Given the description of an element on the screen output the (x, y) to click on. 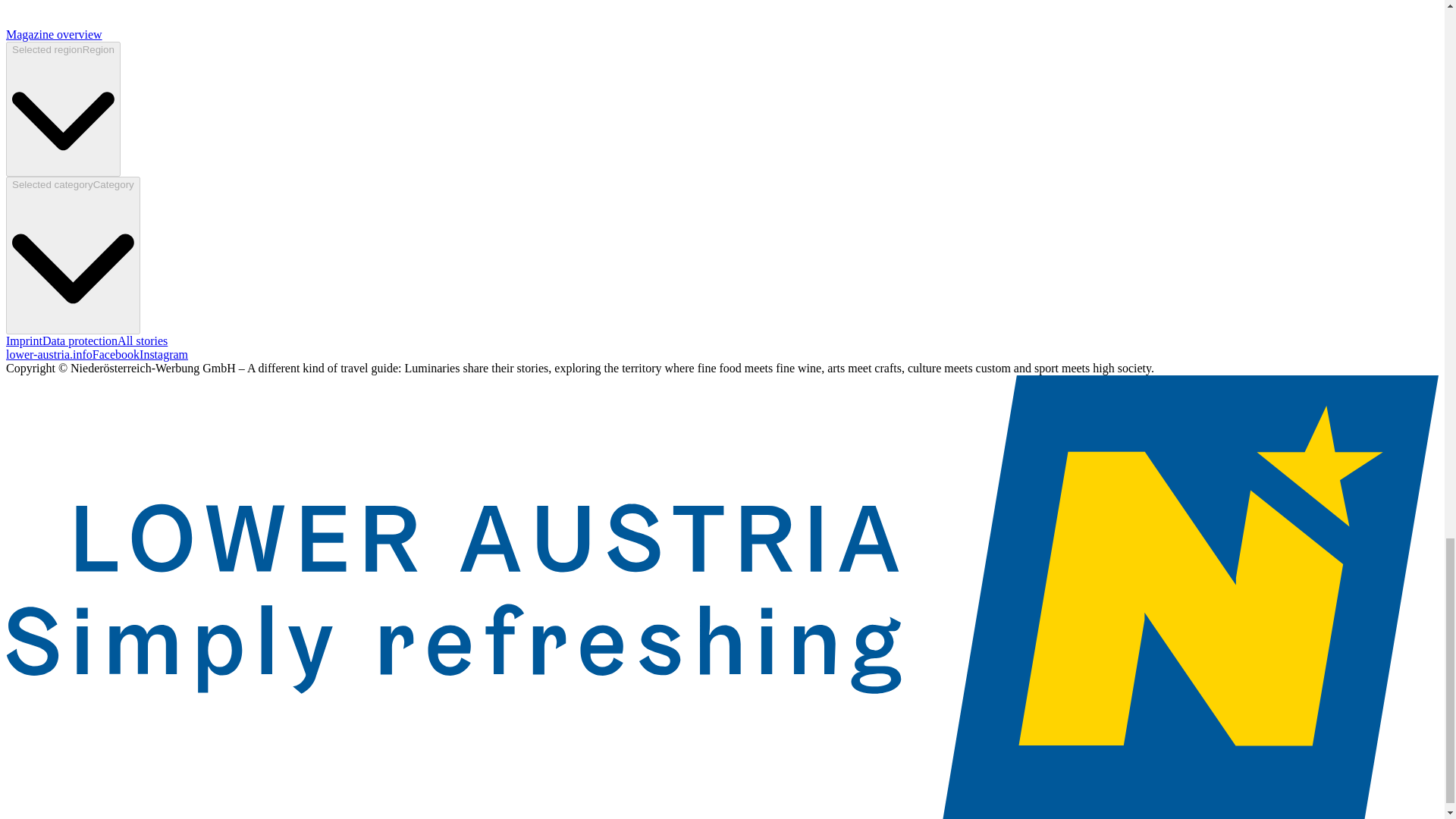
All stories (142, 340)
Data protection (79, 340)
Instagram (163, 354)
lower-austria.info (49, 354)
Facebook (116, 354)
Imprint (23, 340)
